Given the description of an element on the screen output the (x, y) to click on. 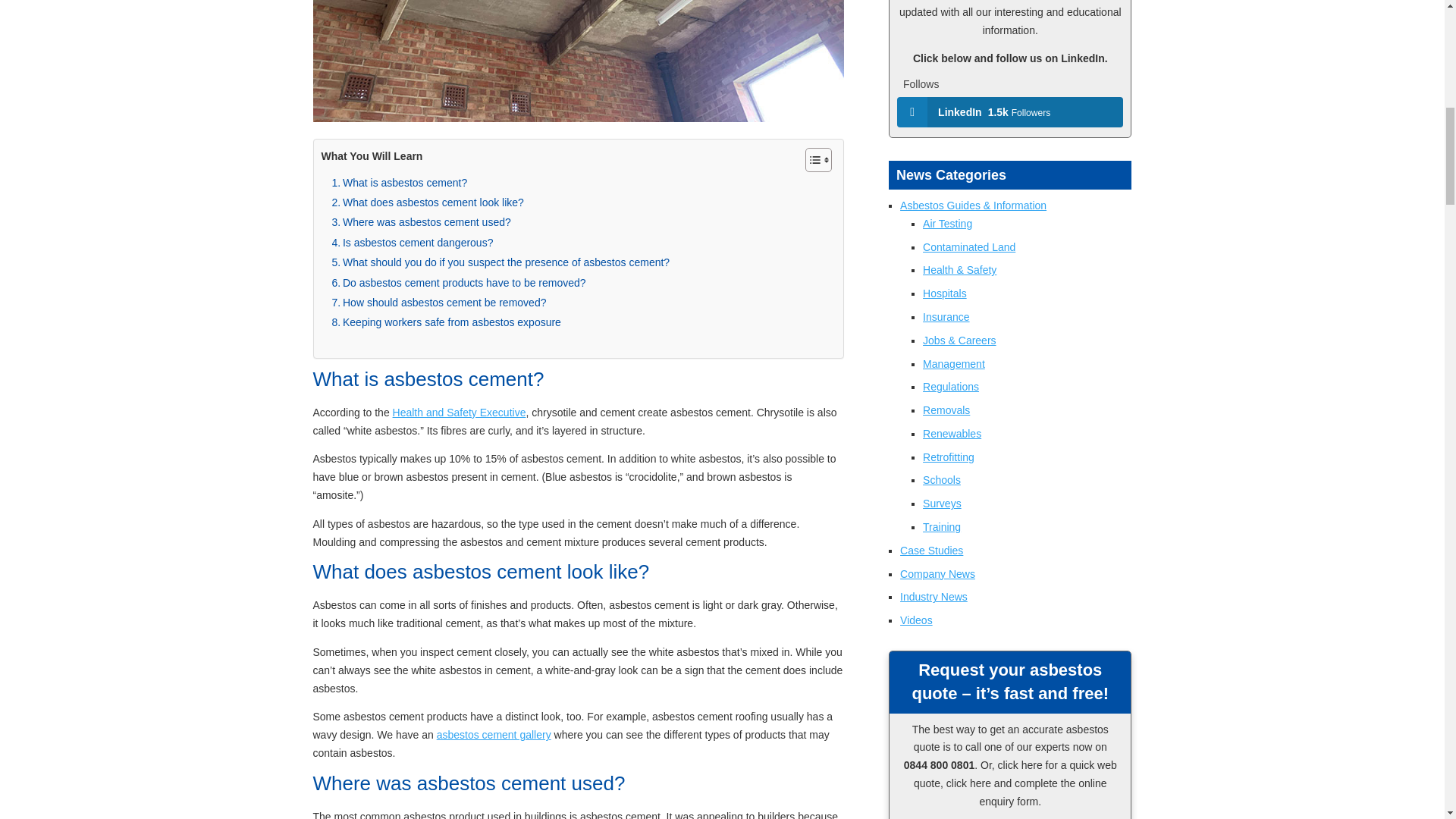
Keeping workers safe from asbestos exposure (445, 322)
What does asbestos cement look like? (427, 202)
Where was asbestos cement used? (421, 221)
What is asbestos cement? (399, 182)
How do I check for asbestos in cement? 1 (578, 61)
Is asbestos cement dangerous? (412, 242)
How should asbestos cement be removed? (439, 302)
Do asbestos cement products have to be removed? (458, 282)
